Given the description of an element on the screen output the (x, y) to click on. 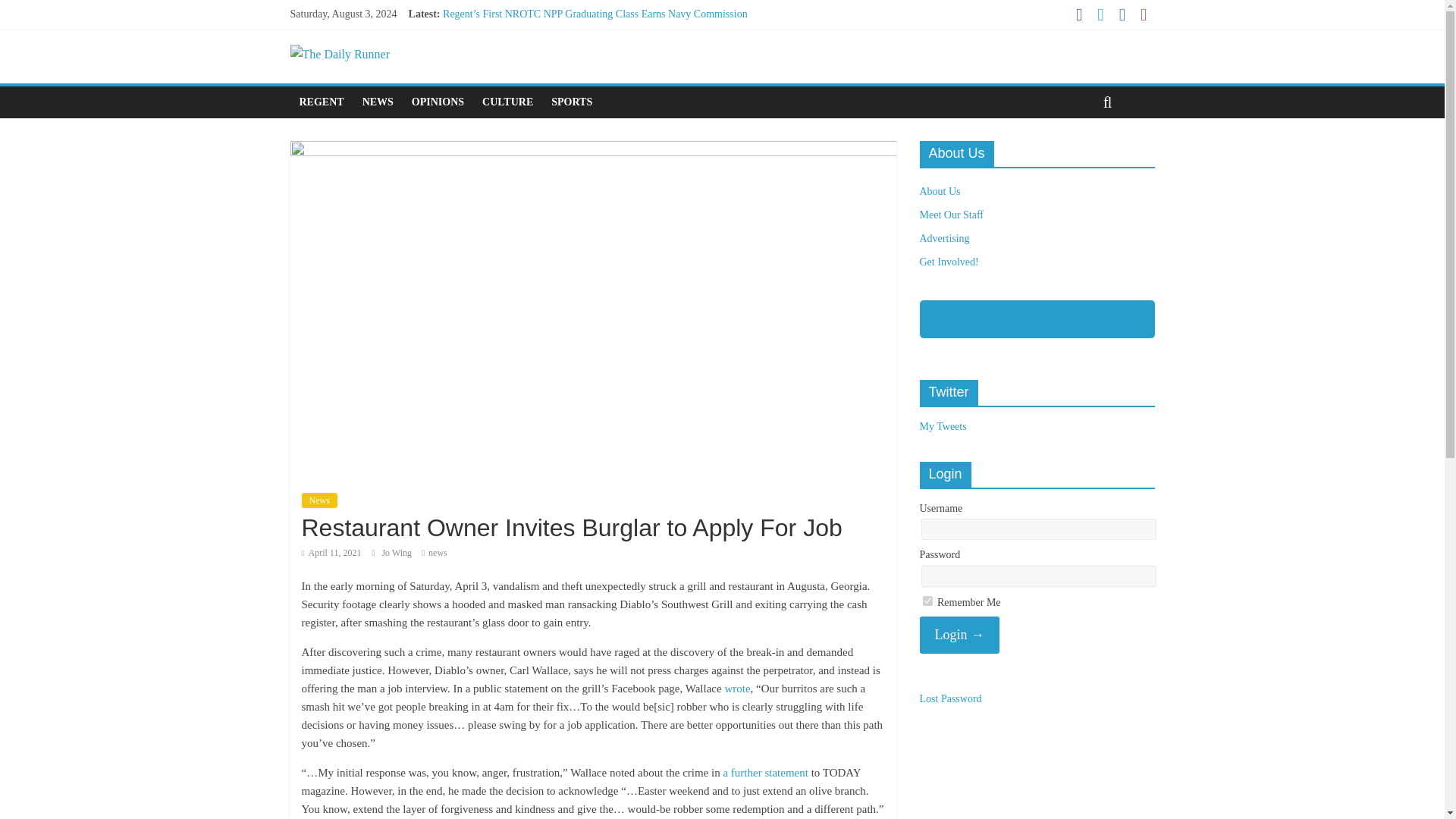
Understanding Antisemitism: Interview with Brendan Murphy (574, 64)
OPINIONS (438, 101)
NEWS (378, 101)
Jo Wing (397, 552)
SPORTS (571, 101)
wrote (736, 688)
6:00 am (331, 552)
CULTURE (507, 101)
Jo Wing (397, 552)
REGENT (320, 101)
April 11, 2021 (331, 552)
news (437, 552)
Understanding Antisemitism: Interview with Brendan Murphy (574, 64)
